Given the description of an element on the screen output the (x, y) to click on. 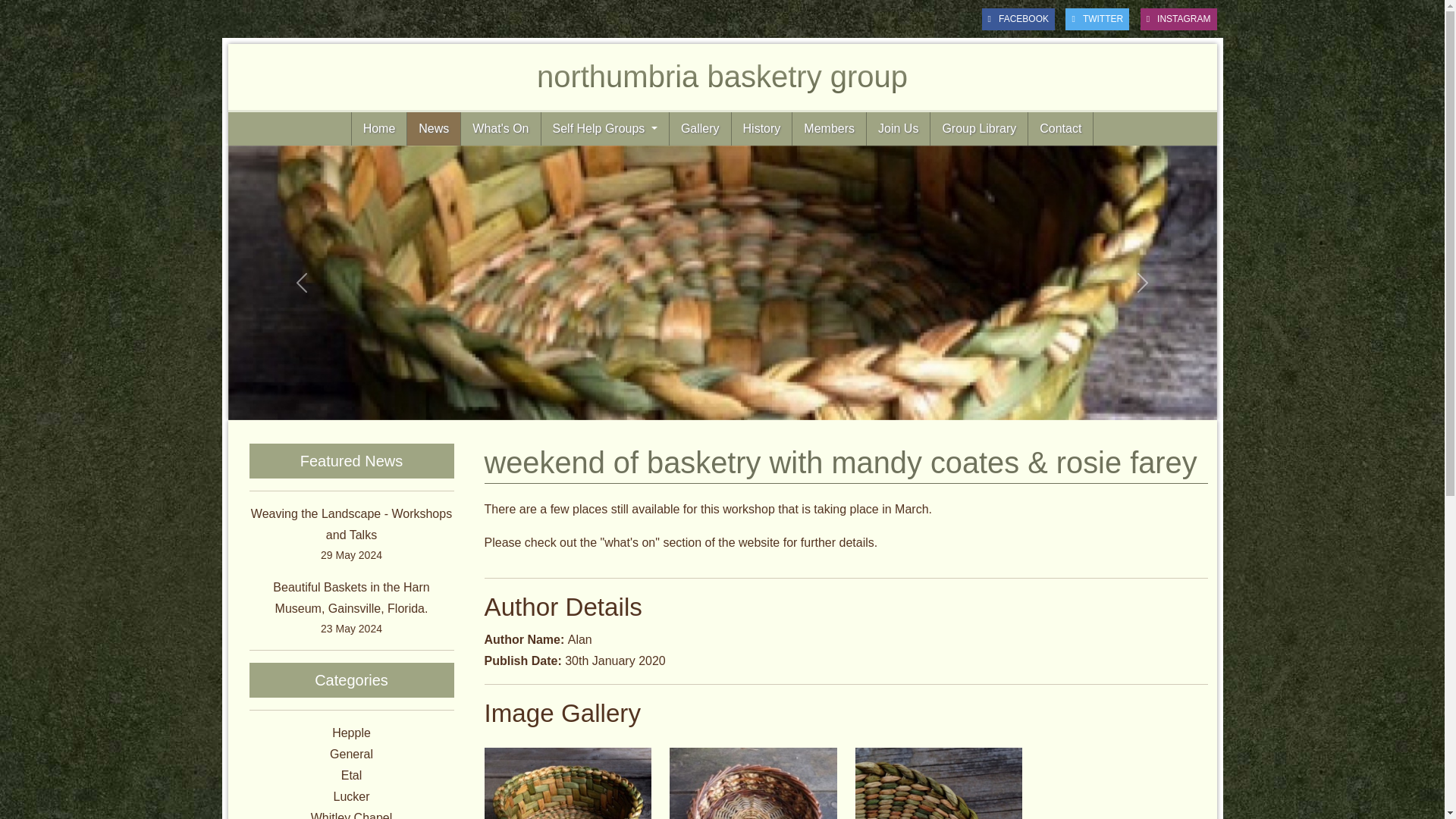
Self Help Groups (604, 128)
General (351, 753)
Join Us (898, 128)
Beautiful Baskets in the Harn Museum, Gainsville, Florida. (351, 597)
What's On (500, 128)
Gallery (699, 128)
Hepple (351, 732)
Etal (721, 76)
History (351, 775)
Home (762, 128)
Contact (379, 128)
Group Library (1060, 128)
Lucker (978, 128)
Members (351, 796)
